Given the description of an element on the screen output the (x, y) to click on. 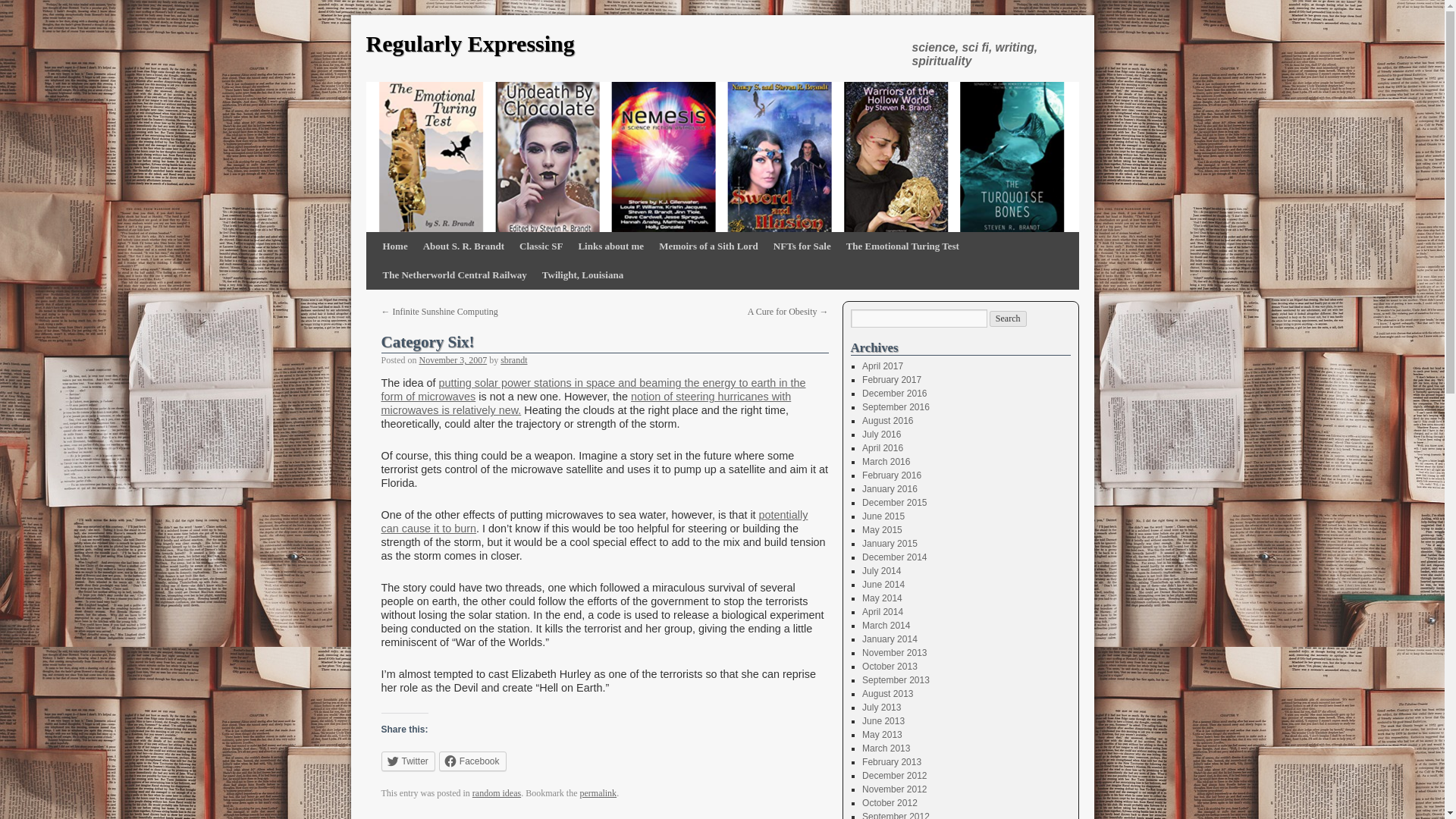
sbrandt (513, 359)
Regularly Expressing (469, 43)
permalink (597, 792)
July 2016 (881, 434)
November 3, 2007 (453, 359)
April 2016 (881, 448)
June 2015 (882, 516)
December 2016 (893, 393)
Twilight, Louisiana (582, 275)
The Emotional Turing Test (902, 246)
Search (1008, 318)
Links about me (610, 246)
Classic SF (541, 246)
